Given the description of an element on the screen output the (x, y) to click on. 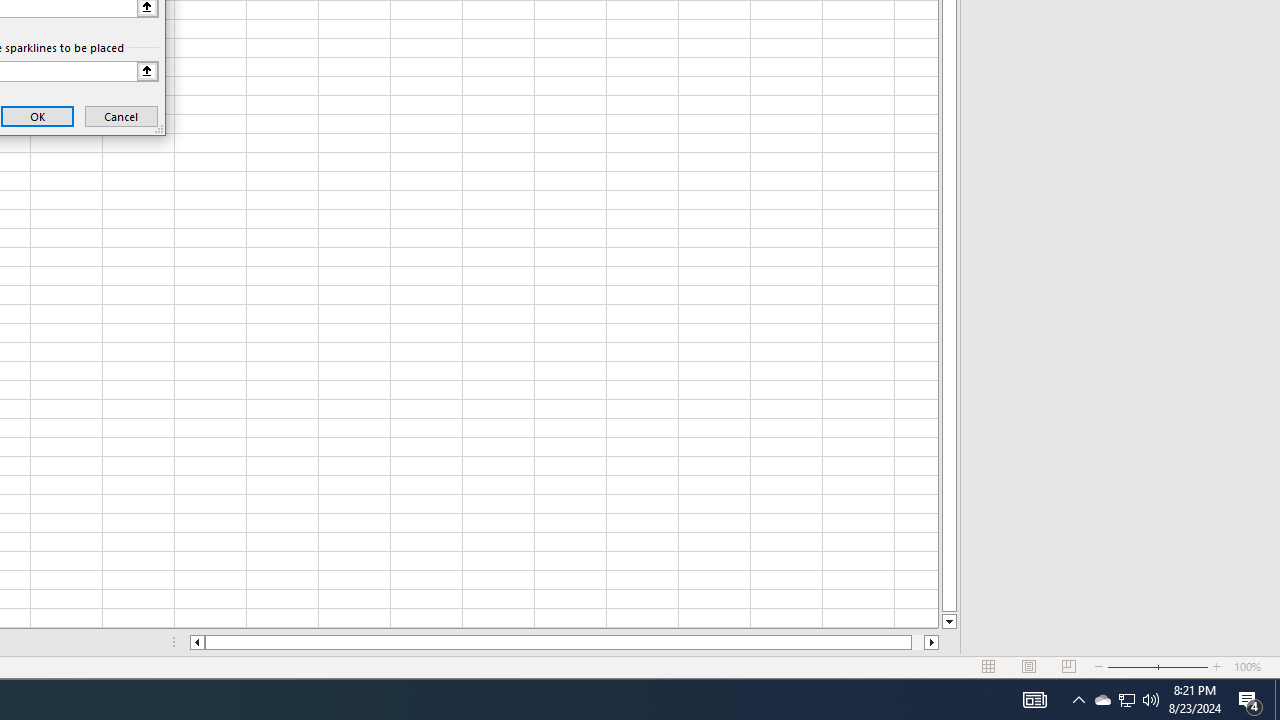
Notification Chevron (1078, 699)
User Promoted Notification Area (1126, 699)
Show desktop (1126, 699)
Q2790: 100% (1102, 699)
Action Center, 4 new notifications (1277, 699)
